Given the description of an element on the screen output the (x, y) to click on. 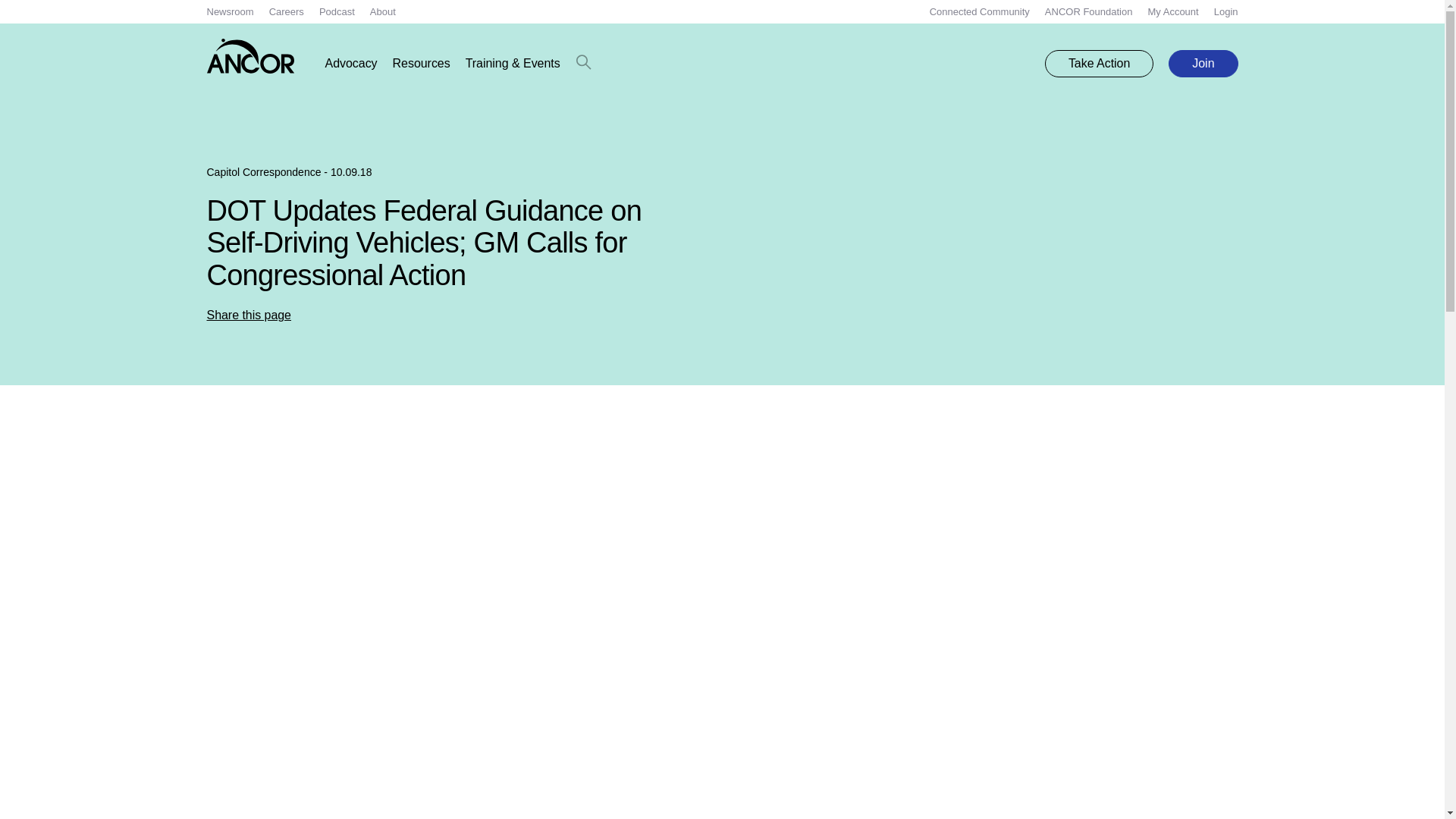
Connected Community (979, 11)
Resources (421, 63)
Join (1203, 62)
Careers (286, 11)
Take Action (1099, 62)
Login (1226, 11)
My Account (1172, 11)
Podcast (336, 11)
Newsroom (229, 11)
About (382, 11)
